Given the description of an element on the screen output the (x, y) to click on. 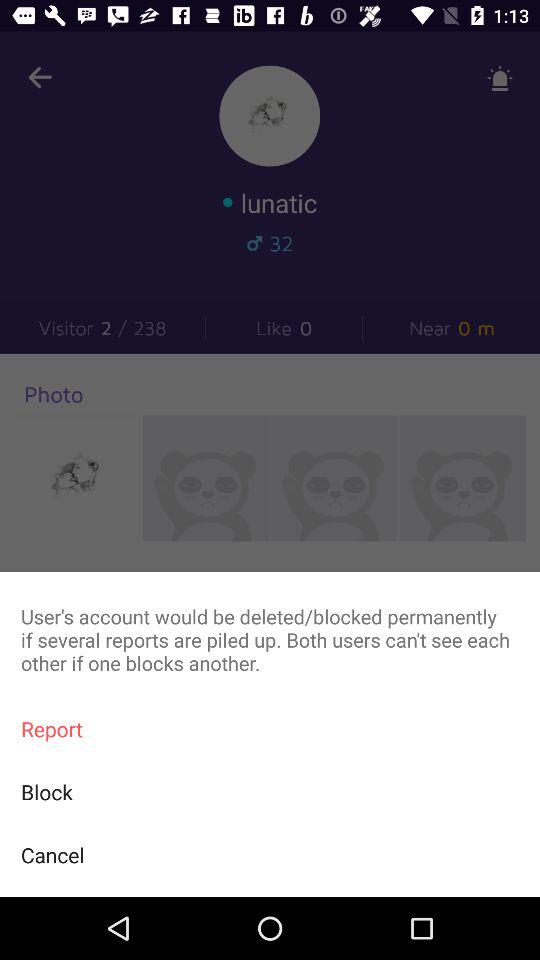
launch the button below the block (270, 854)
